Given the description of an element on the screen output the (x, y) to click on. 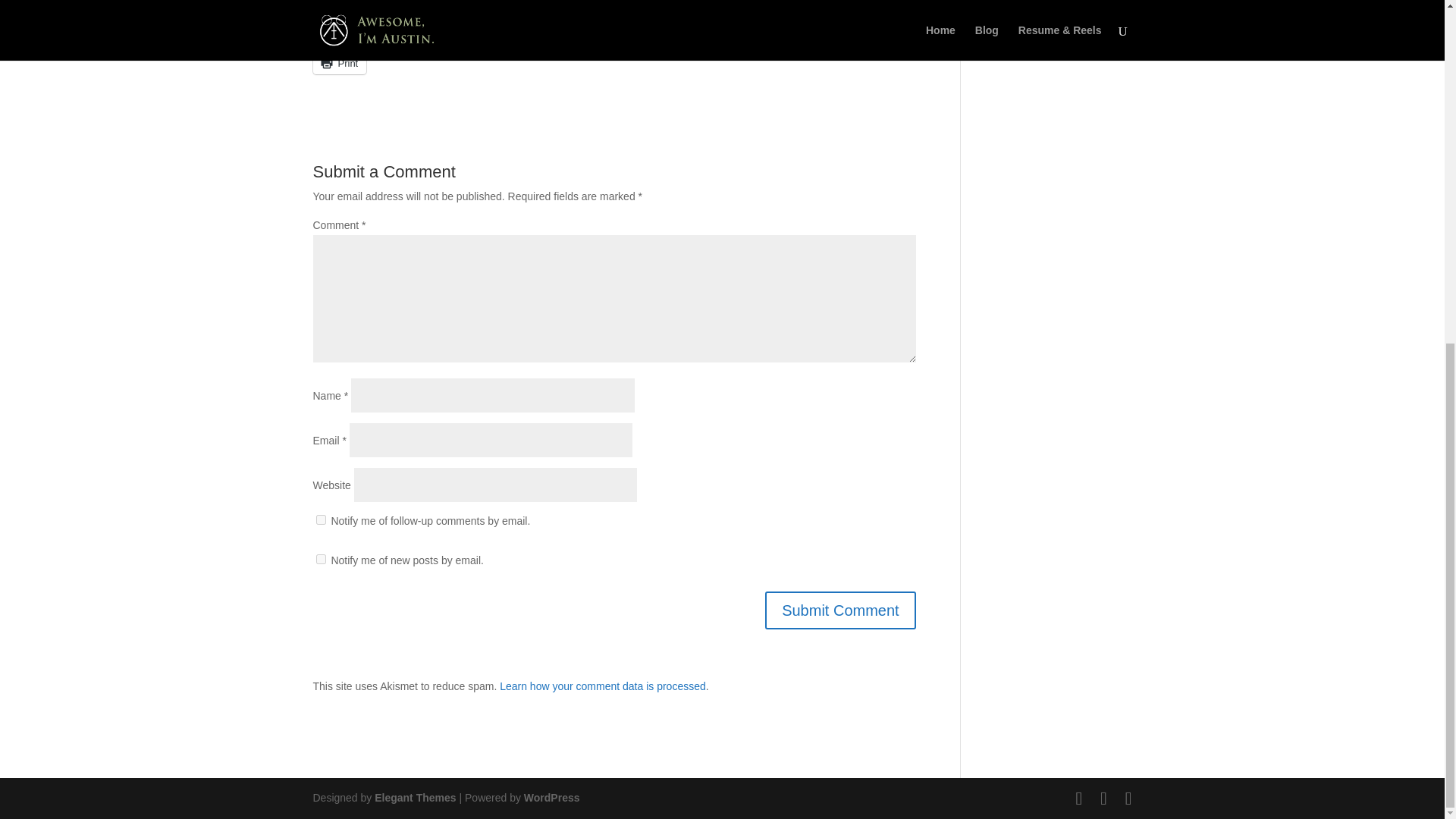
Click to share on Twitter (495, 30)
Click to share on Tumblr (642, 30)
Click to email a link to a friend (856, 30)
Click to share on Facebook (419, 30)
Print (339, 62)
Pocket (344, 30)
Email (856, 30)
LinkedIn (569, 30)
Facebook (419, 30)
Click to share on Reddit (710, 30)
subscribe (319, 519)
Learn how your comment data is processed (602, 686)
Click to print (339, 62)
Tumblr (642, 30)
Premium WordPress Themes (414, 797)
